Given the description of an element on the screen output the (x, y) to click on. 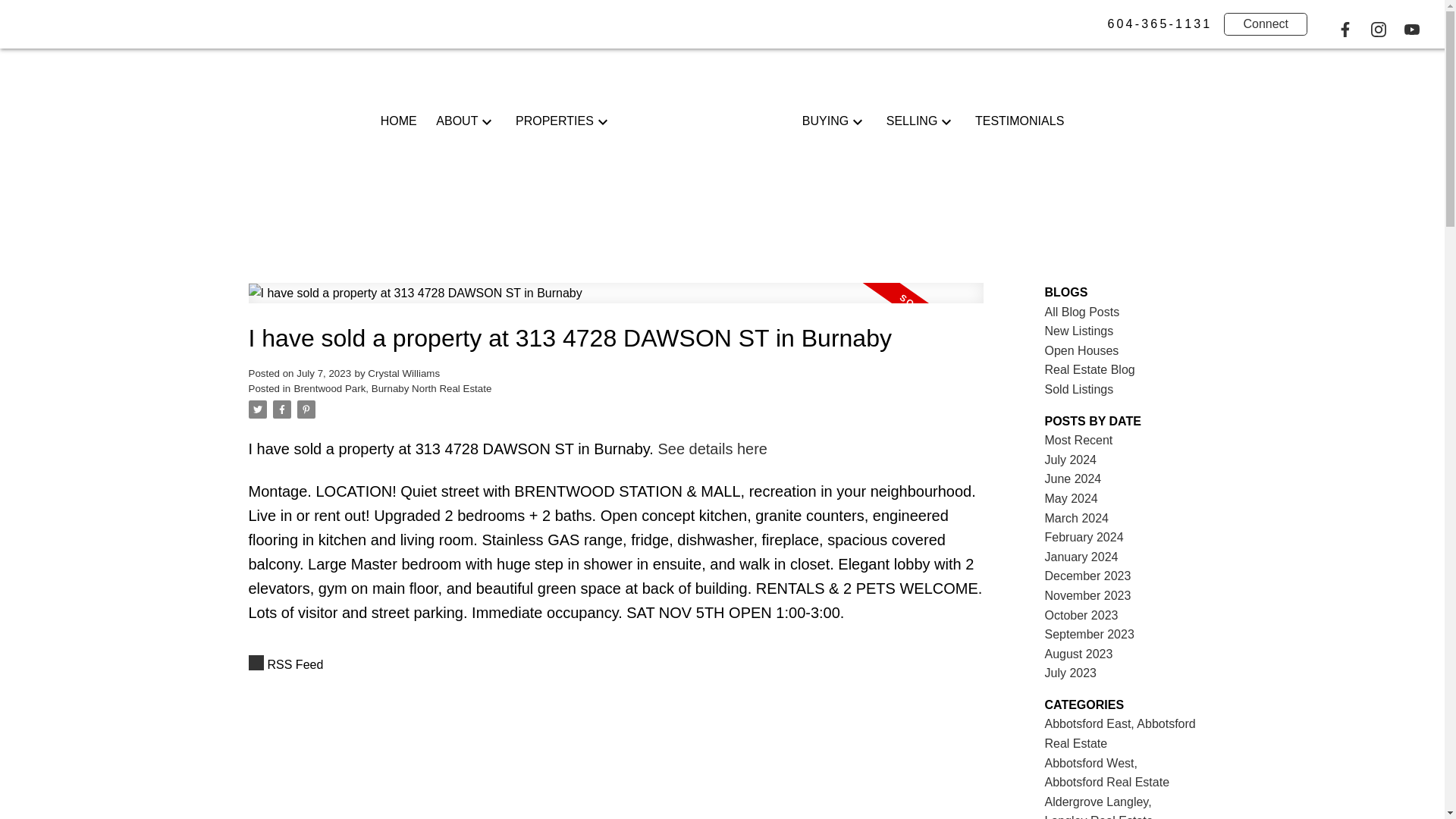
ABOUT (456, 121)
TESTIMONIALS (1019, 121)
PROPERTIES (554, 121)
HOME (398, 121)
Connect (1265, 24)
SELLING (911, 121)
BUYING (825, 121)
